Given the description of an element on the screen output the (x, y) to click on. 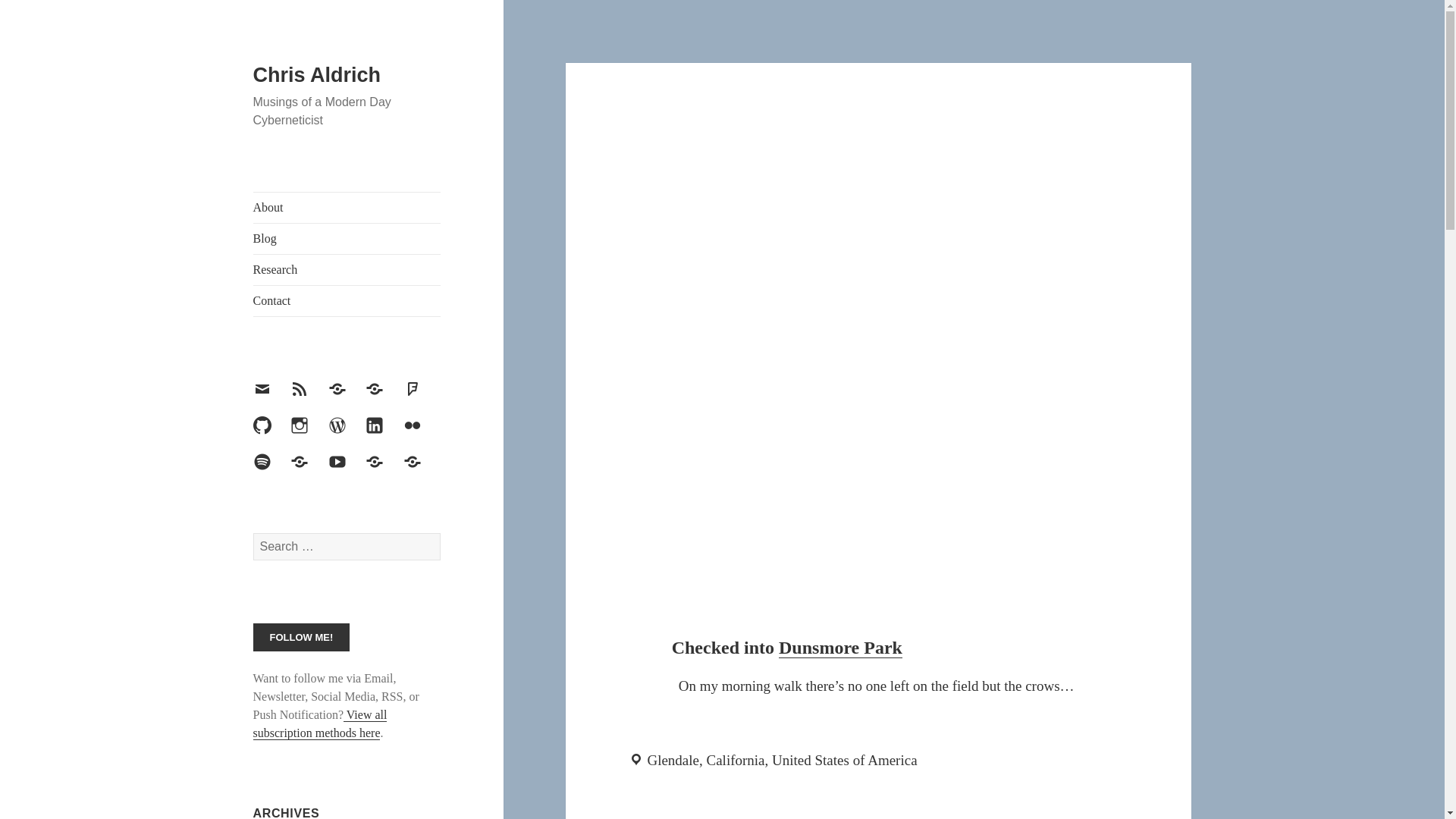
About (347, 207)
Follow Me! (301, 637)
Chris Aldrich (317, 74)
Blog (347, 238)
